Given the description of an element on the screen output the (x, y) to click on. 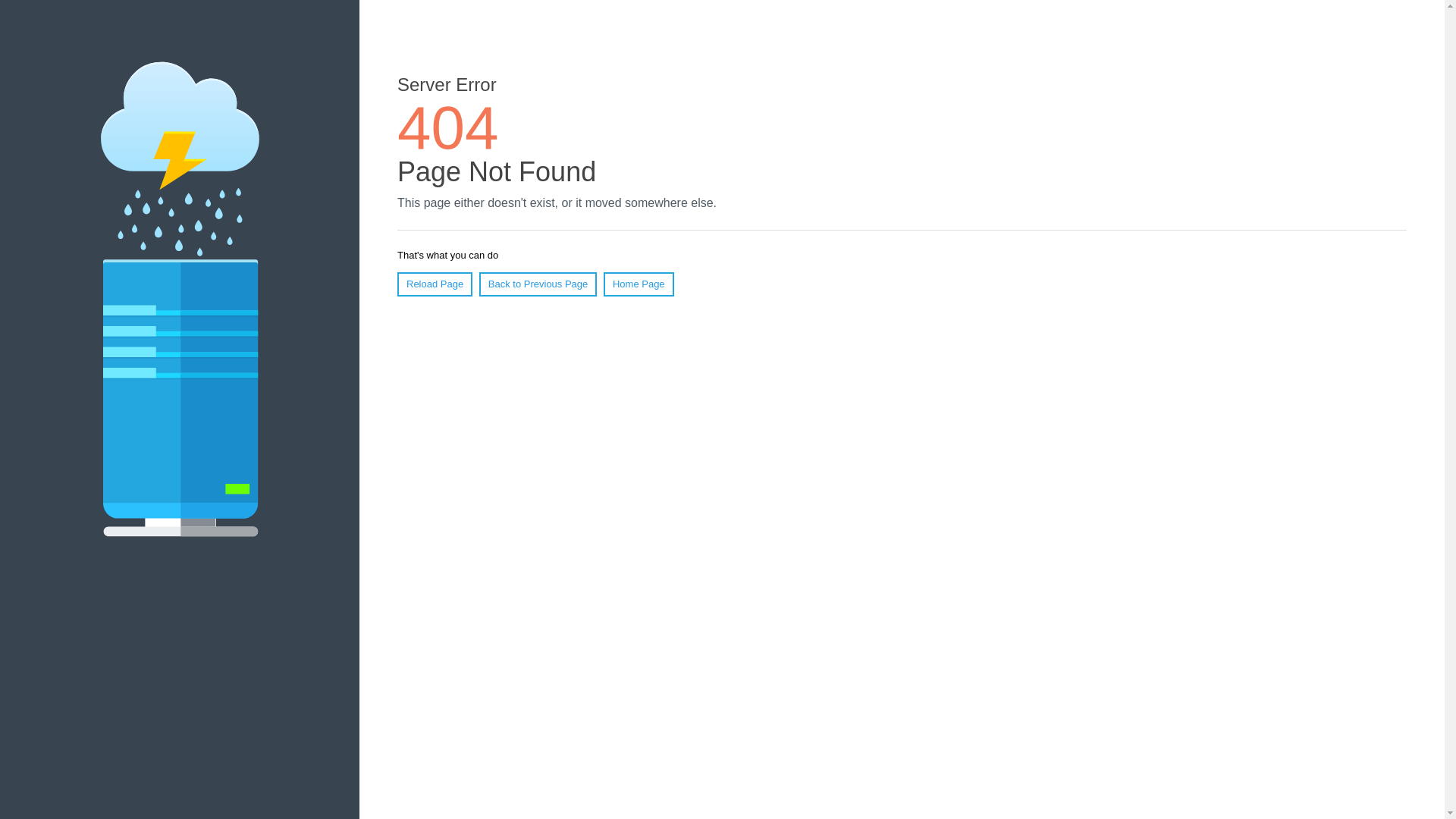
Back to Previous Page Element type: text (538, 284)
Home Page Element type: text (638, 284)
Reload Page Element type: text (434, 284)
